Given the description of an element on the screen output the (x, y) to click on. 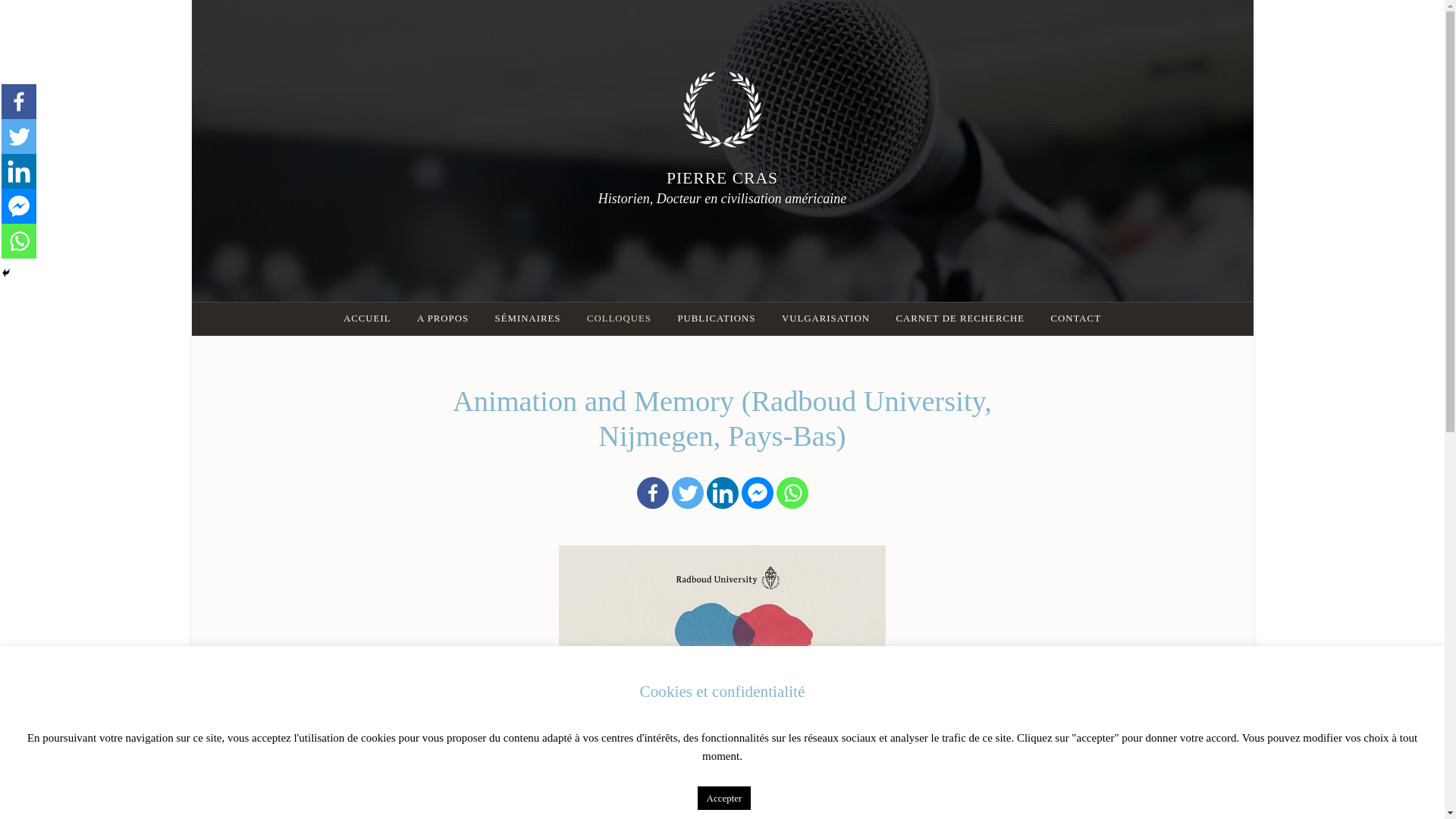
COLLOQUES (618, 318)
A PROPOS (443, 318)
Twitter (18, 135)
Facebook (18, 101)
Whatsapp (18, 240)
PIERRE CRAS (721, 177)
ACCUEIL (366, 318)
Hide (5, 272)
Whatsapp (792, 492)
Linkedin (18, 171)
Twitter (687, 492)
Facebook (652, 492)
Linkedin (722, 492)
Pierre Cras (721, 177)
